Given the description of an element on the screen output the (x, y) to click on. 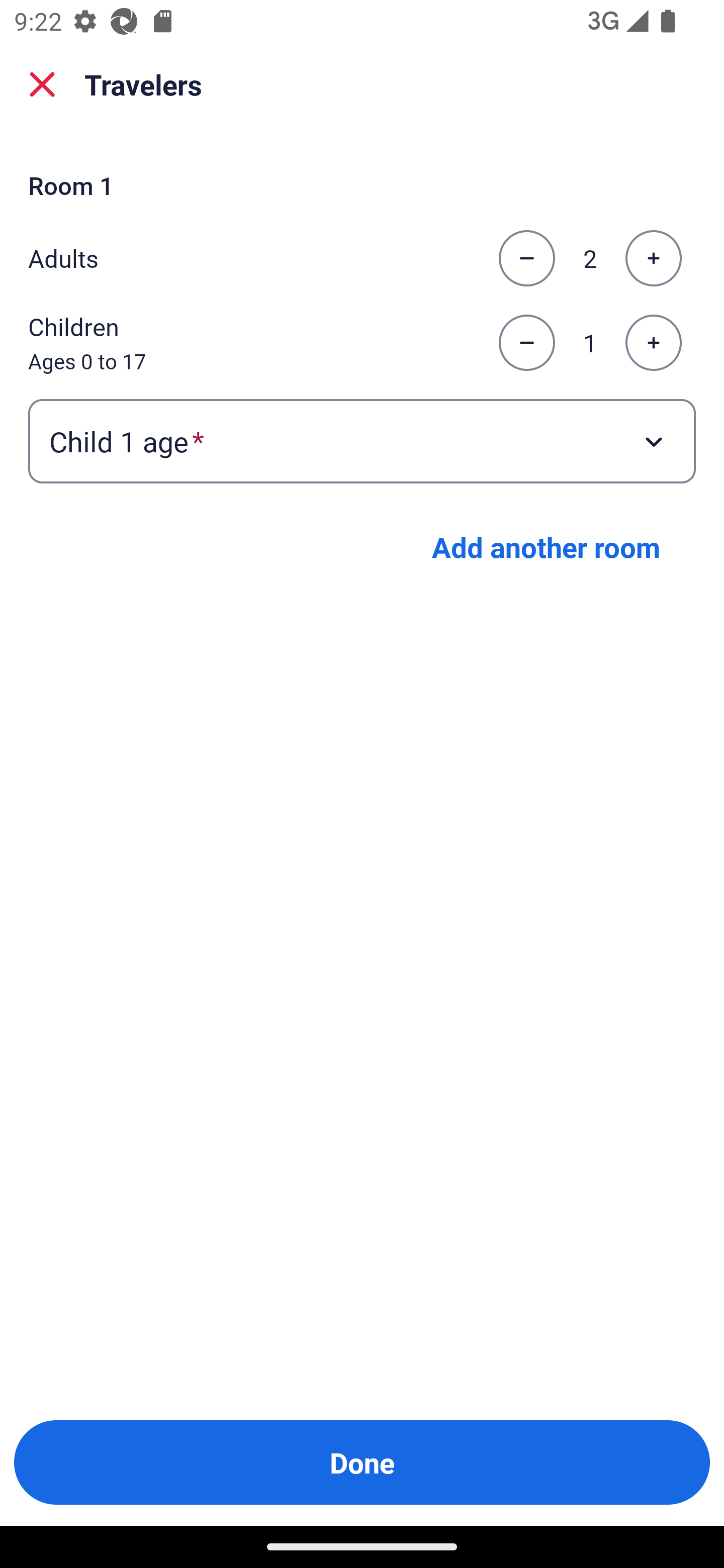
close (42, 84)
Decrease the number of adults (526, 258)
Increase the number of adults (653, 258)
Decrease the number of children (526, 343)
Increase the number of children (653, 343)
Child 1 age required Button (361, 440)
Add another room (545, 546)
Done (361, 1462)
